Given the description of an element on the screen output the (x, y) to click on. 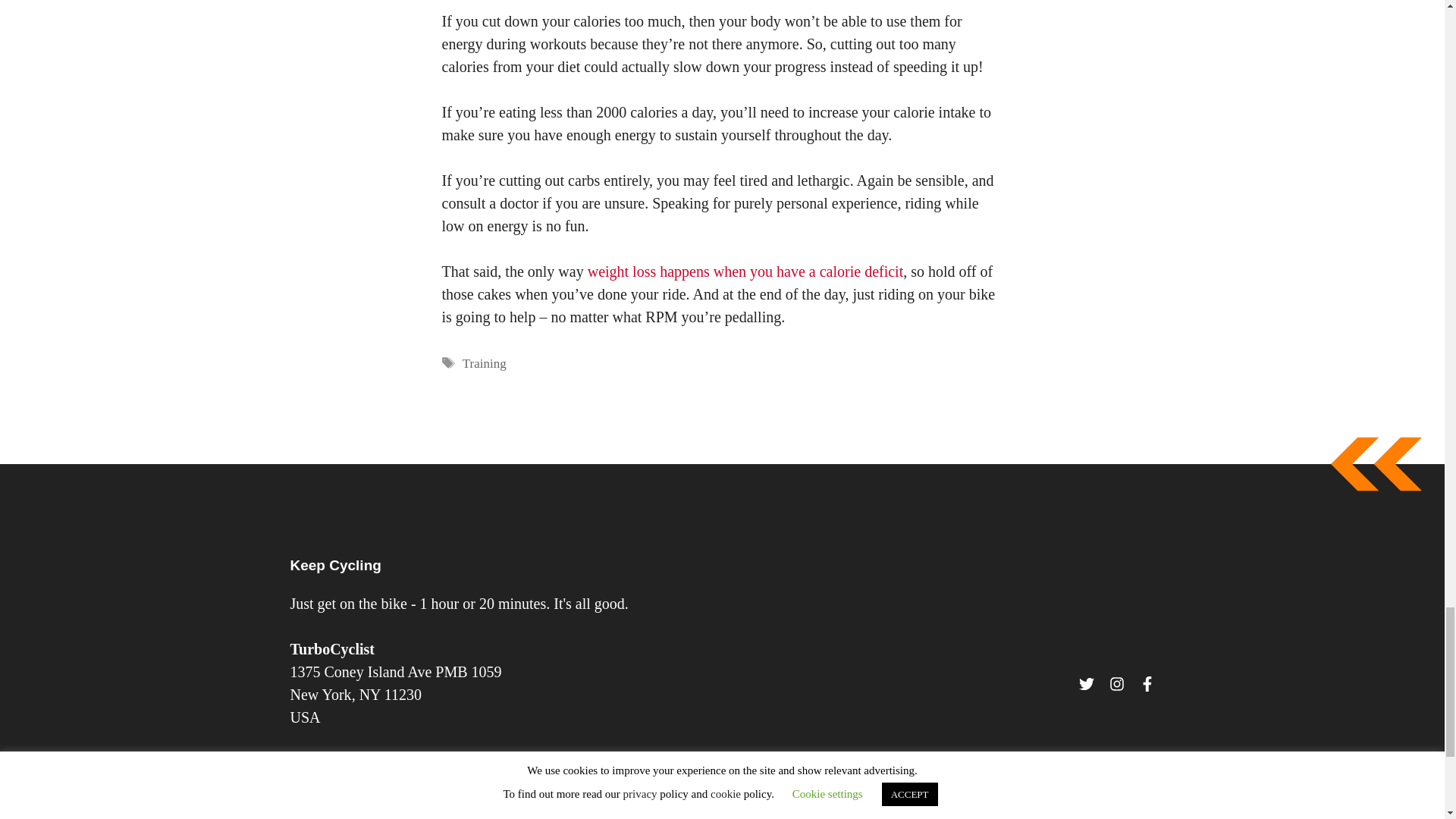
weight loss happens when you have a calorie deficit (746, 271)
CONTACT US (347, 793)
Training (484, 363)
